Given the description of an element on the screen output the (x, y) to click on. 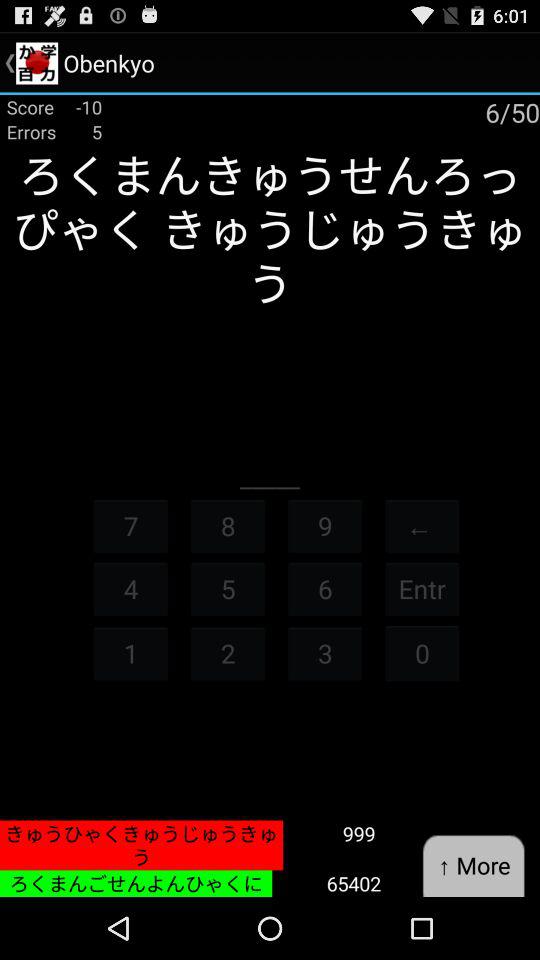
open the 2 item (228, 652)
